Given the description of an element on the screen output the (x, y) to click on. 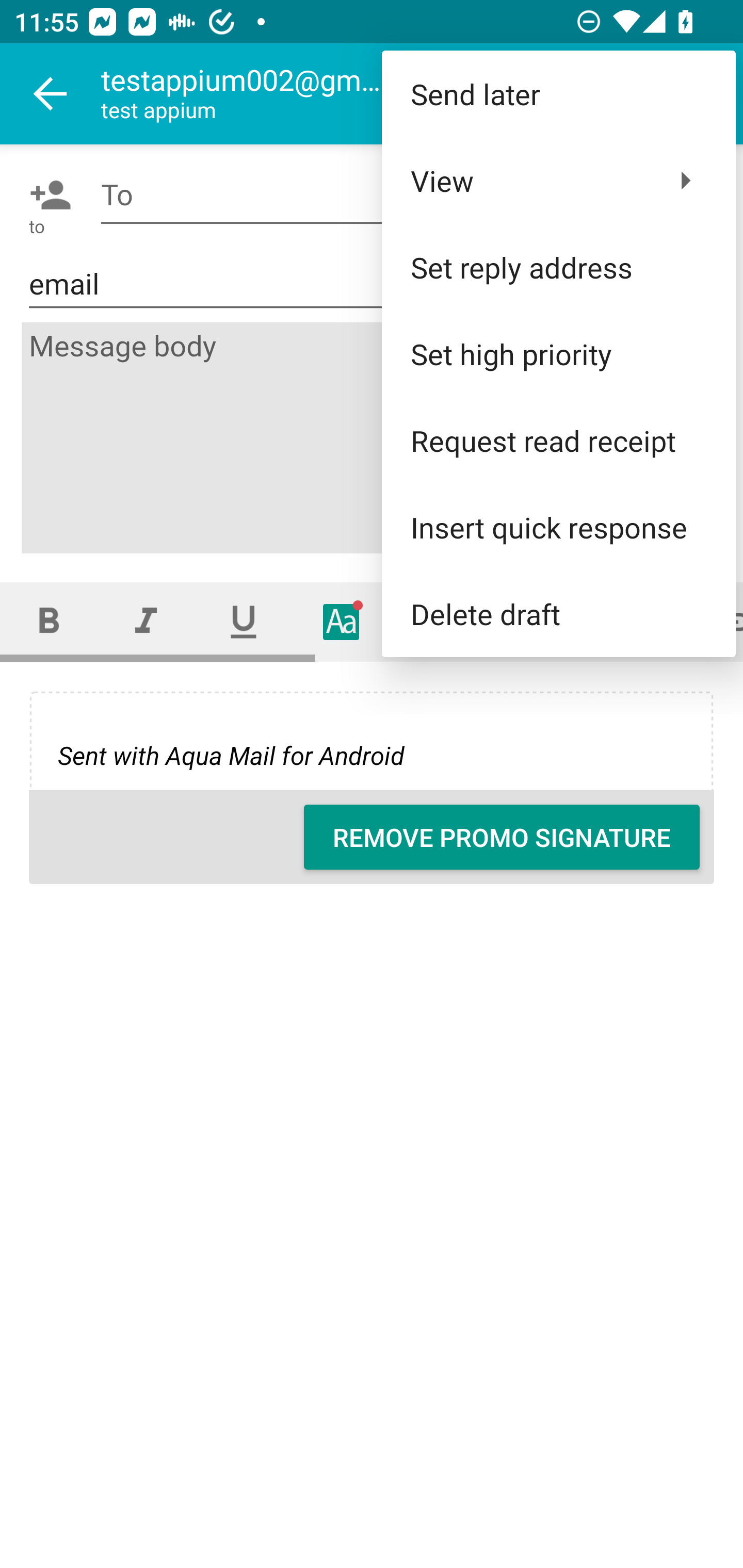
Send later (558, 93)
View (558, 180)
Set reply address (558, 267)
Set high priority (558, 353)
Request read receipt (558, 440)
Insert quick response (558, 527)
Delete draft (558, 613)
